Given the description of an element on the screen output the (x, y) to click on. 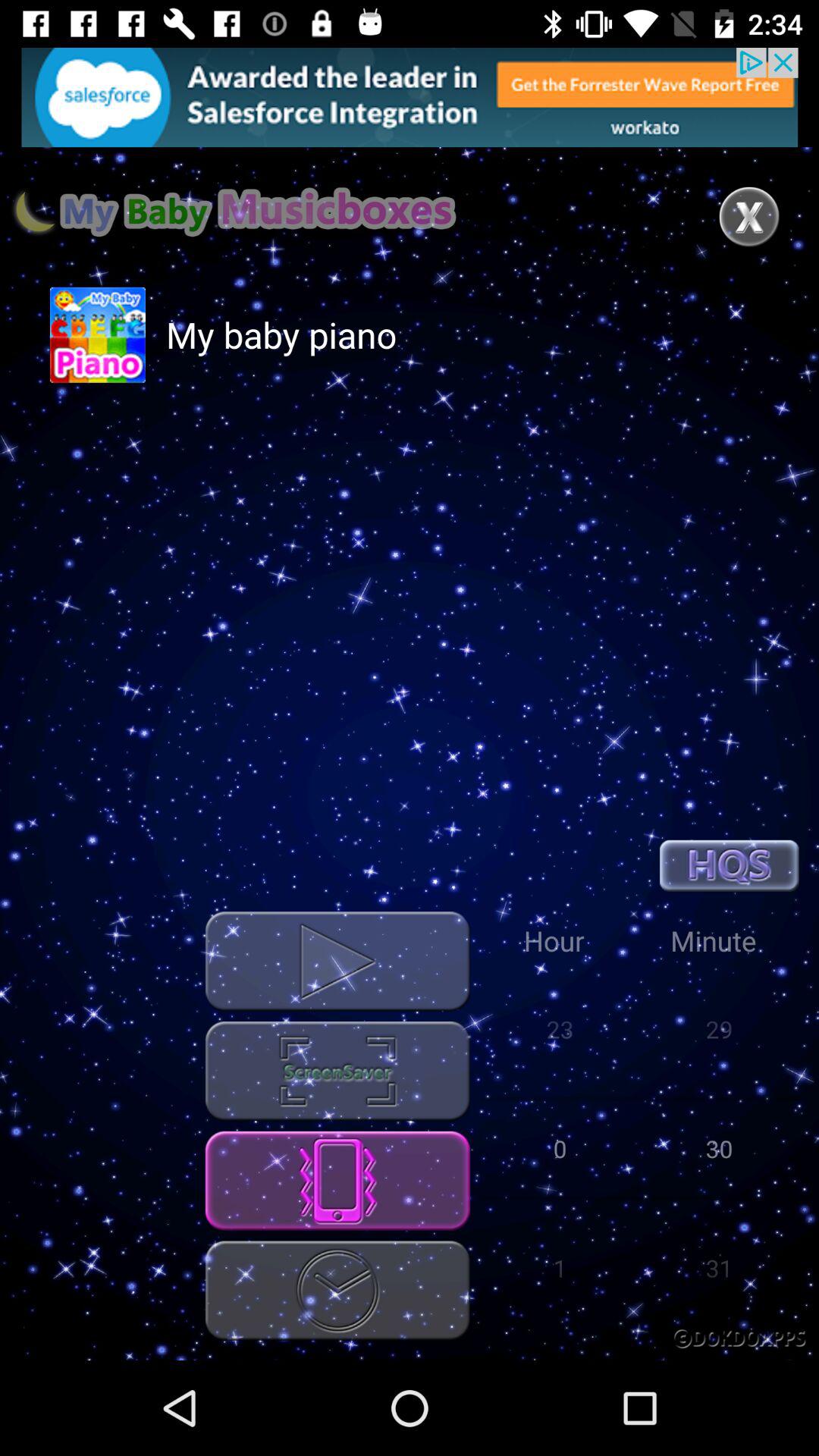
play the selected song (337, 961)
